Given the description of an element on the screen output the (x, y) to click on. 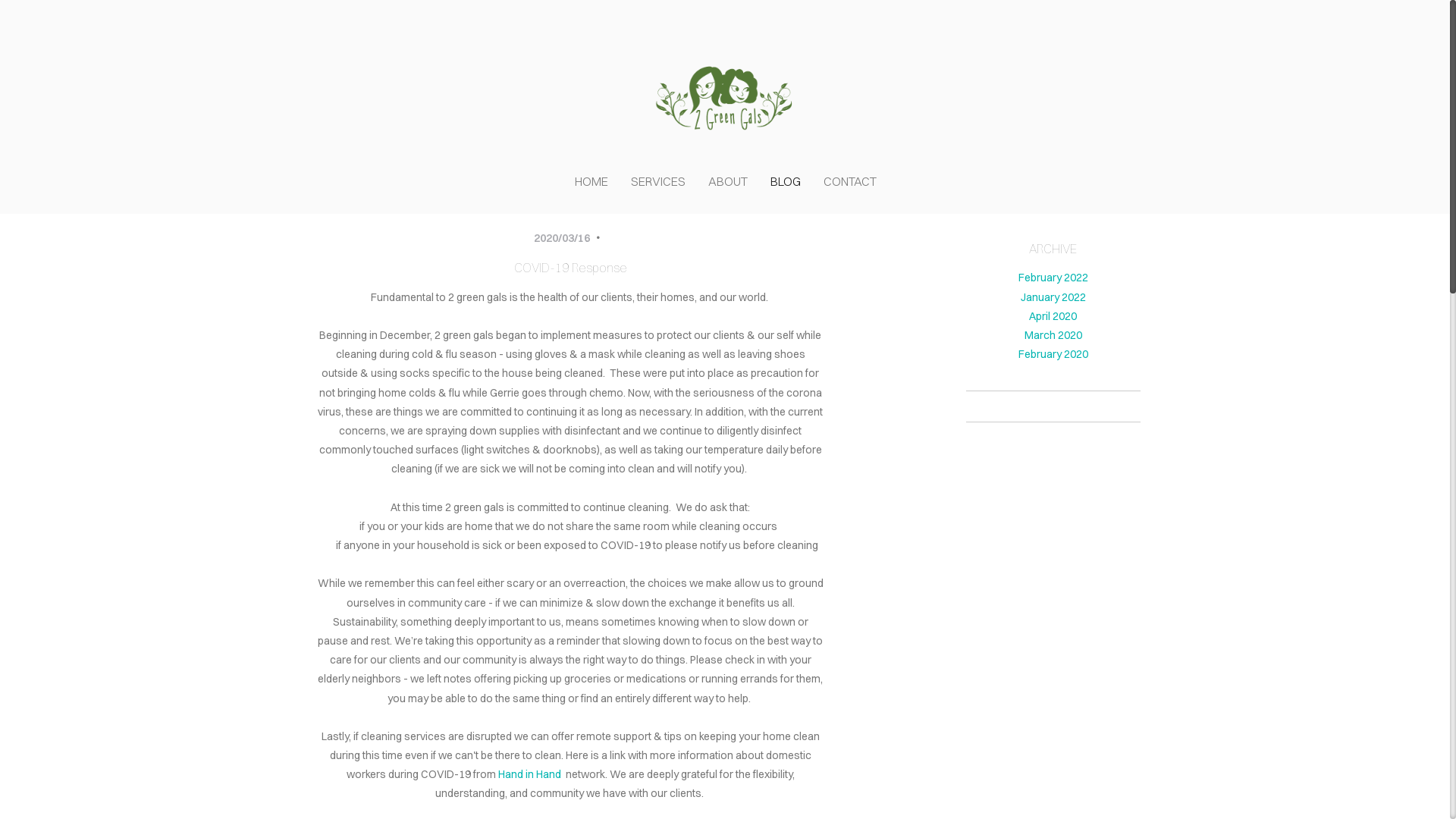
COVID-19 Response Element type: text (570, 267)
Hand in Hand Element type: text (528, 774)
March 2020 Element type: text (1053, 335)
ABOUT Element type: text (727, 181)
February 2020 Element type: text (1053, 353)
February 2022 Element type: text (1053, 277)
BLOG Element type: text (785, 181)
CONTACT Element type: text (849, 181)
HOME Element type: text (591, 181)
January 2022 Element type: text (1052, 297)
April 2020 Element type: text (1052, 316)
SERVICES Element type: text (657, 181)
